Given the description of an element on the screen output the (x, y) to click on. 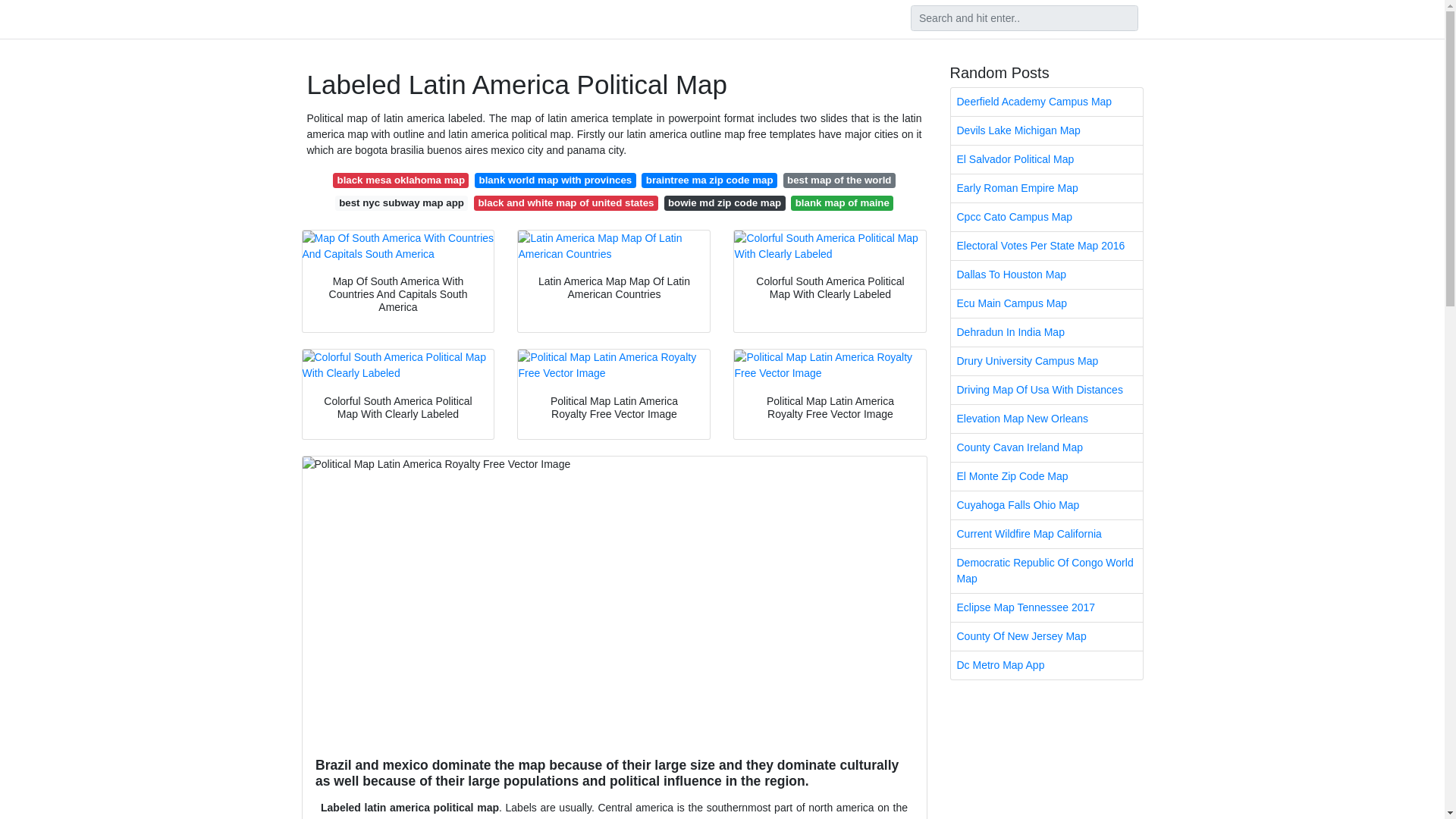
best map of the world (839, 180)
Devils Lake Michigan Map (1046, 130)
Deerfield Academy Campus Map (1046, 101)
braintree ma zip code map (709, 180)
Ecu Main Campus Map (1046, 303)
best nyc subway map app (400, 202)
Cpcc Cato Campus Map (1046, 216)
blank world map with provinces (554, 180)
Early Roman Empire Map (1046, 188)
Dehradun In India Map (1046, 332)
bowie md zip code map (724, 202)
Dallas To Houston Map (1046, 275)
black mesa oklahoma map (400, 180)
El Salvador Political Map (1046, 159)
blank map of maine (841, 202)
